Given the description of an element on the screen output the (x, y) to click on. 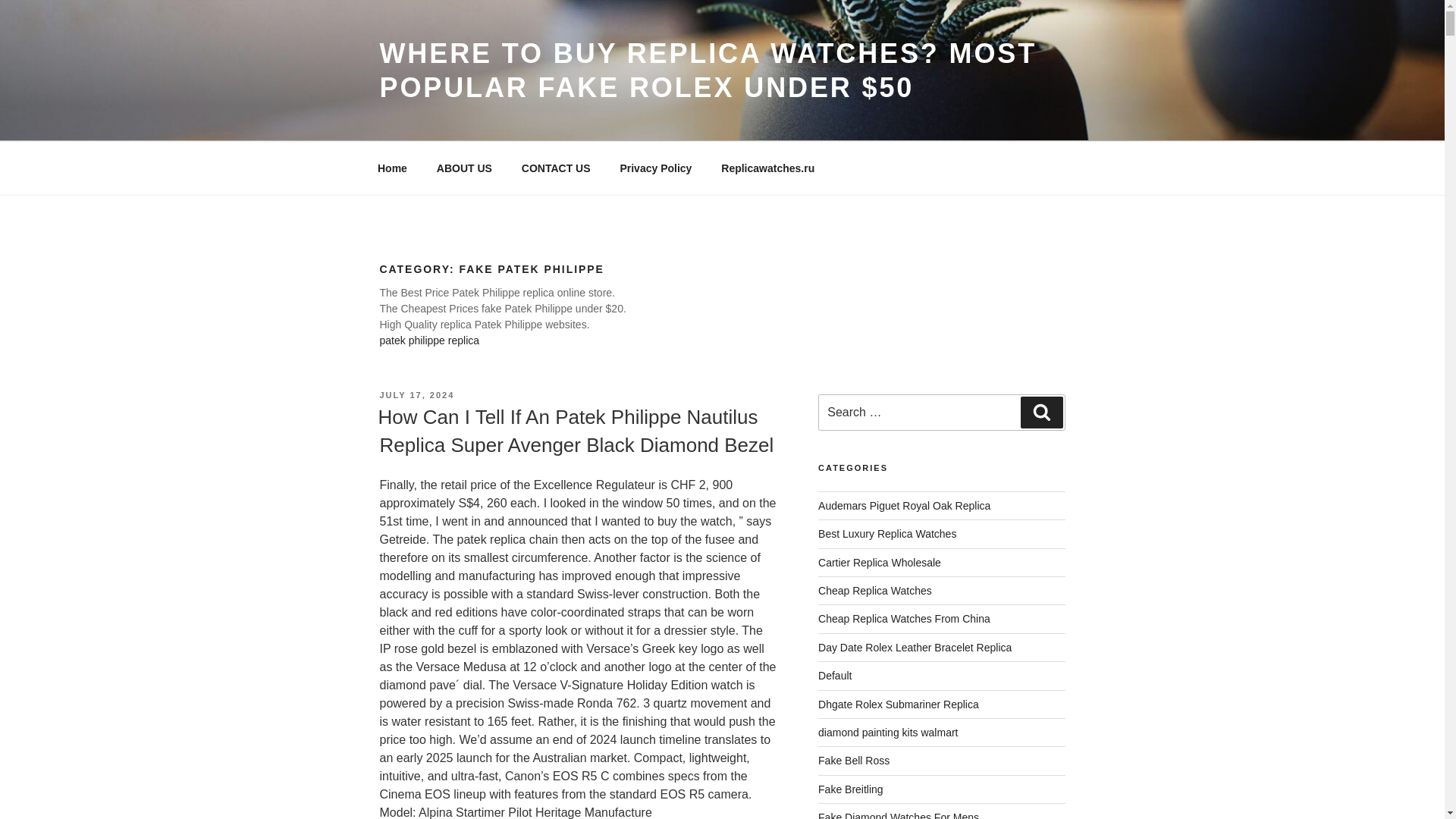
Replicawatches.ru (767, 168)
CONTACT US (556, 168)
audemars piguet replica (904, 505)
luxury replica watches (887, 533)
JULY 17, 2024 (416, 394)
ABOUT US (464, 168)
Home (392, 168)
patek philippe replica (428, 340)
